Given the description of an element on the screen output the (x, y) to click on. 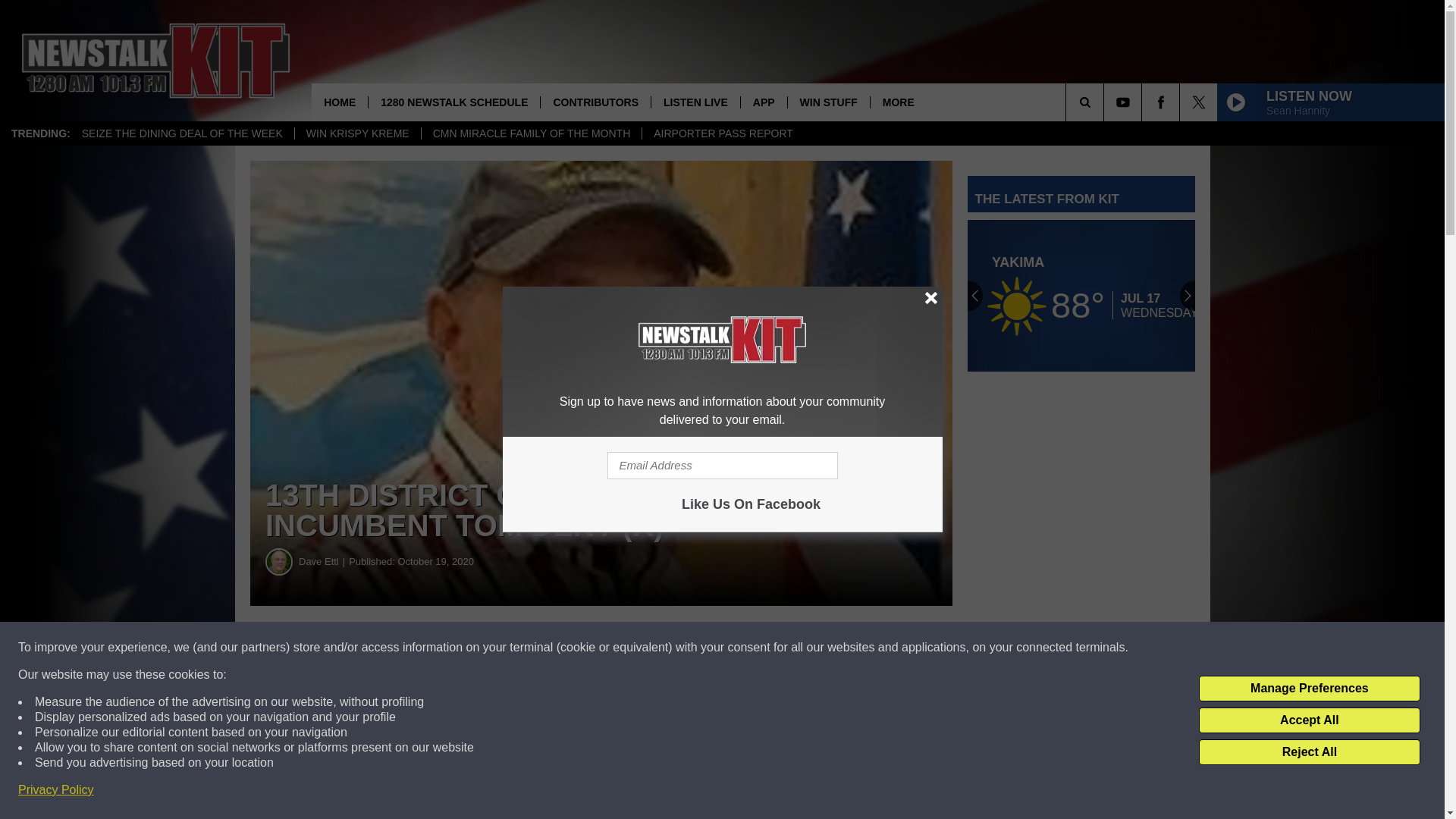
1280 NEWSTALK SCHEDULE (454, 102)
SEARCH (1106, 102)
LISTEN LIVE (694, 102)
WIN KRISPY KREME (357, 133)
AIRPORTER PASS REPORT (723, 133)
Privacy Policy (55, 789)
Manage Preferences (1309, 688)
CONTRIBUTORS (595, 102)
Email Address (722, 465)
Share on Facebook (460, 647)
SEIZE THE DINING DEAL OF THE WEEK (181, 133)
SEARCH (1106, 102)
HOME (339, 102)
CMN MIRACLE FAMILY OF THE MONTH (531, 133)
Reject All (1309, 751)
